Given the description of an element on the screen output the (x, y) to click on. 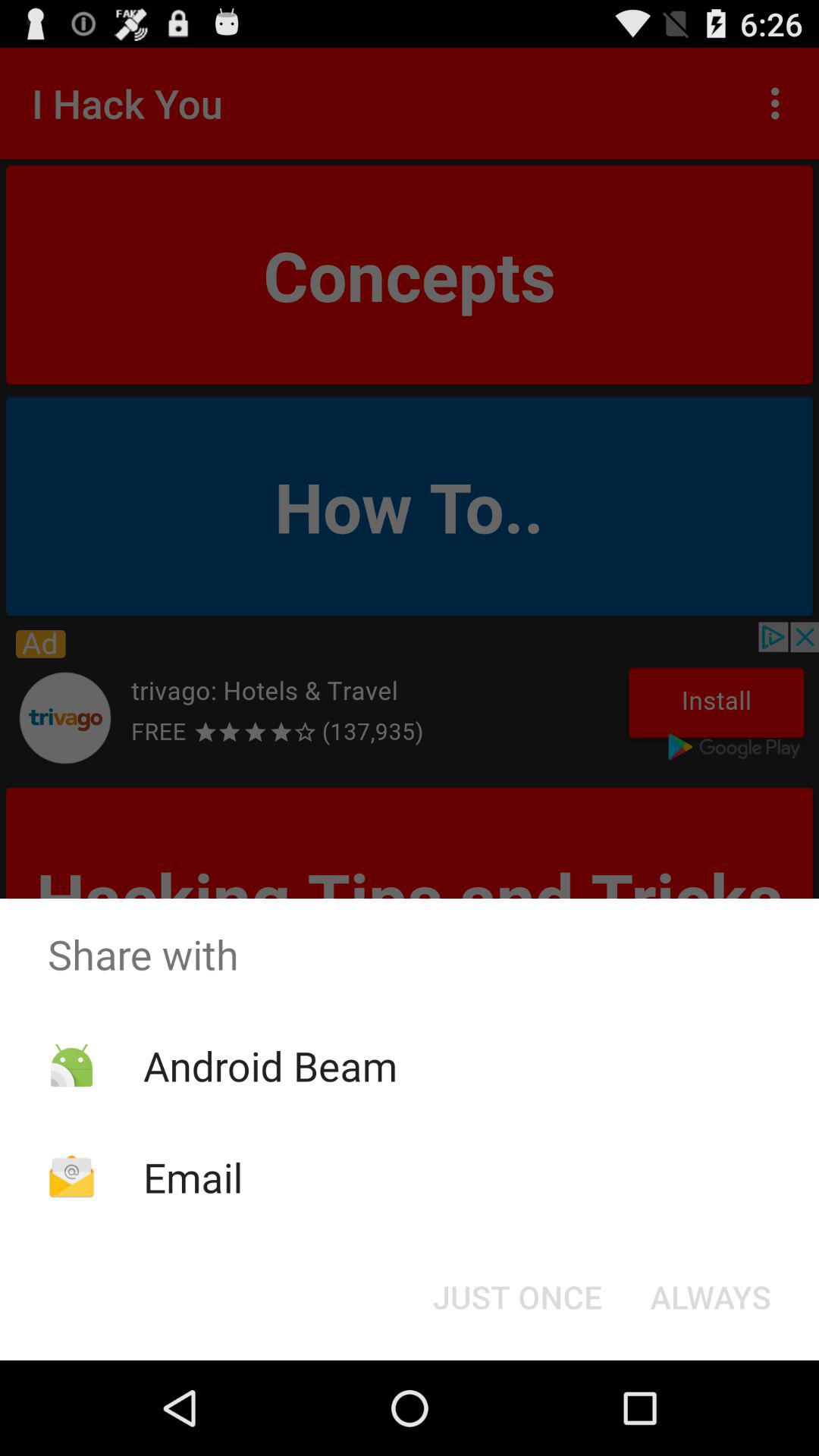
click the icon to the right of just once item (710, 1296)
